Given the description of an element on the screen output the (x, y) to click on. 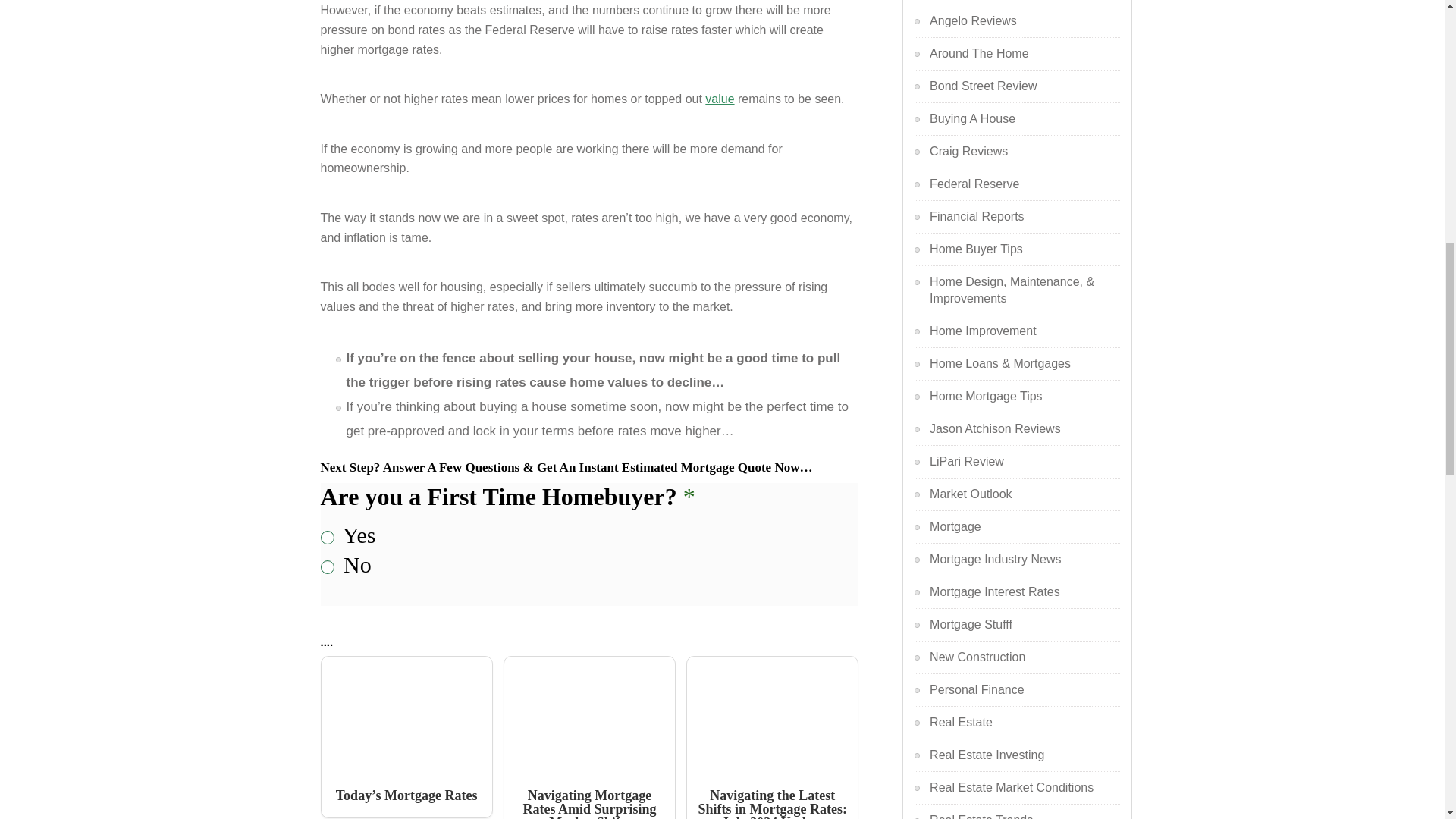
Navigating Mortgage Rates Amid Surprising Market Shifts (589, 737)
value (718, 98)
No (326, 567)
Yes (326, 537)
